Given the description of an element on the screen output the (x, y) to click on. 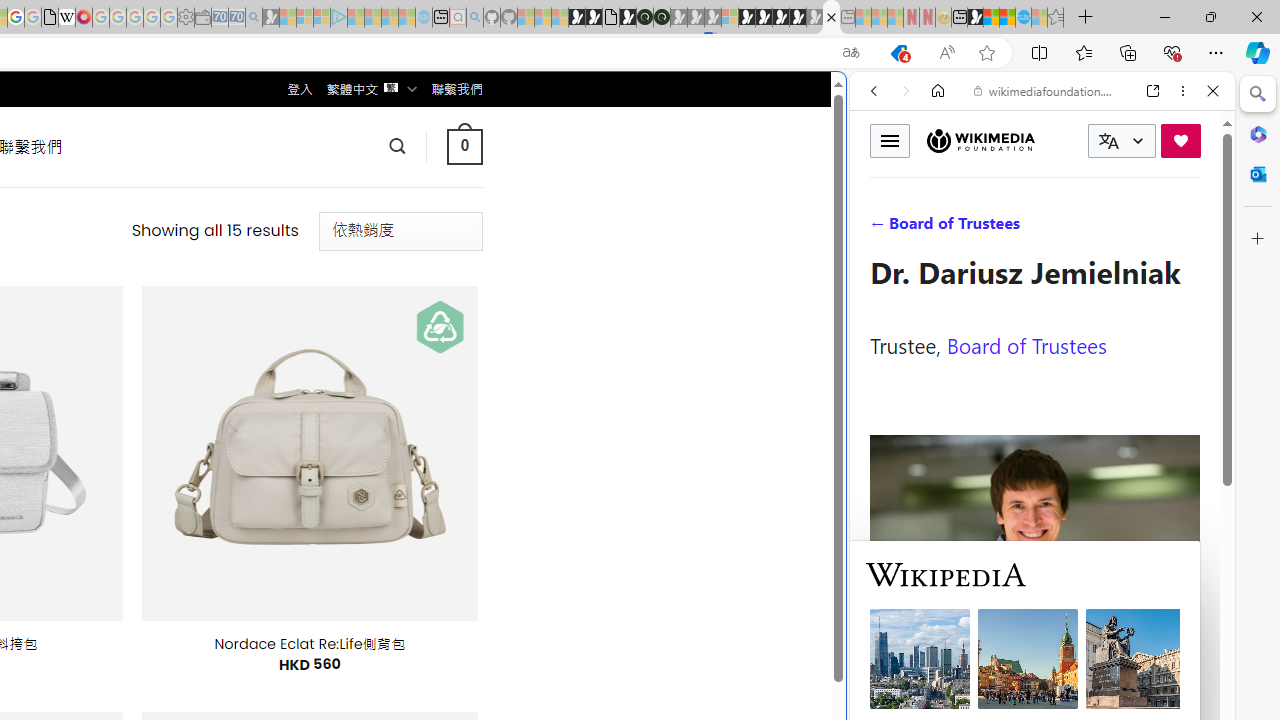
Search or enter web address (343, 191)
Close Customize pane (1258, 239)
Close split screen (844, 102)
Earth has six continents not seven, radical new study claims (1007, 17)
Services - Maintenance | Sky Blue Bikes - Sky Blue Bikes (1023, 17)
Favorites - Sleeping (1055, 17)
